Given the description of an element on the screen output the (x, y) to click on. 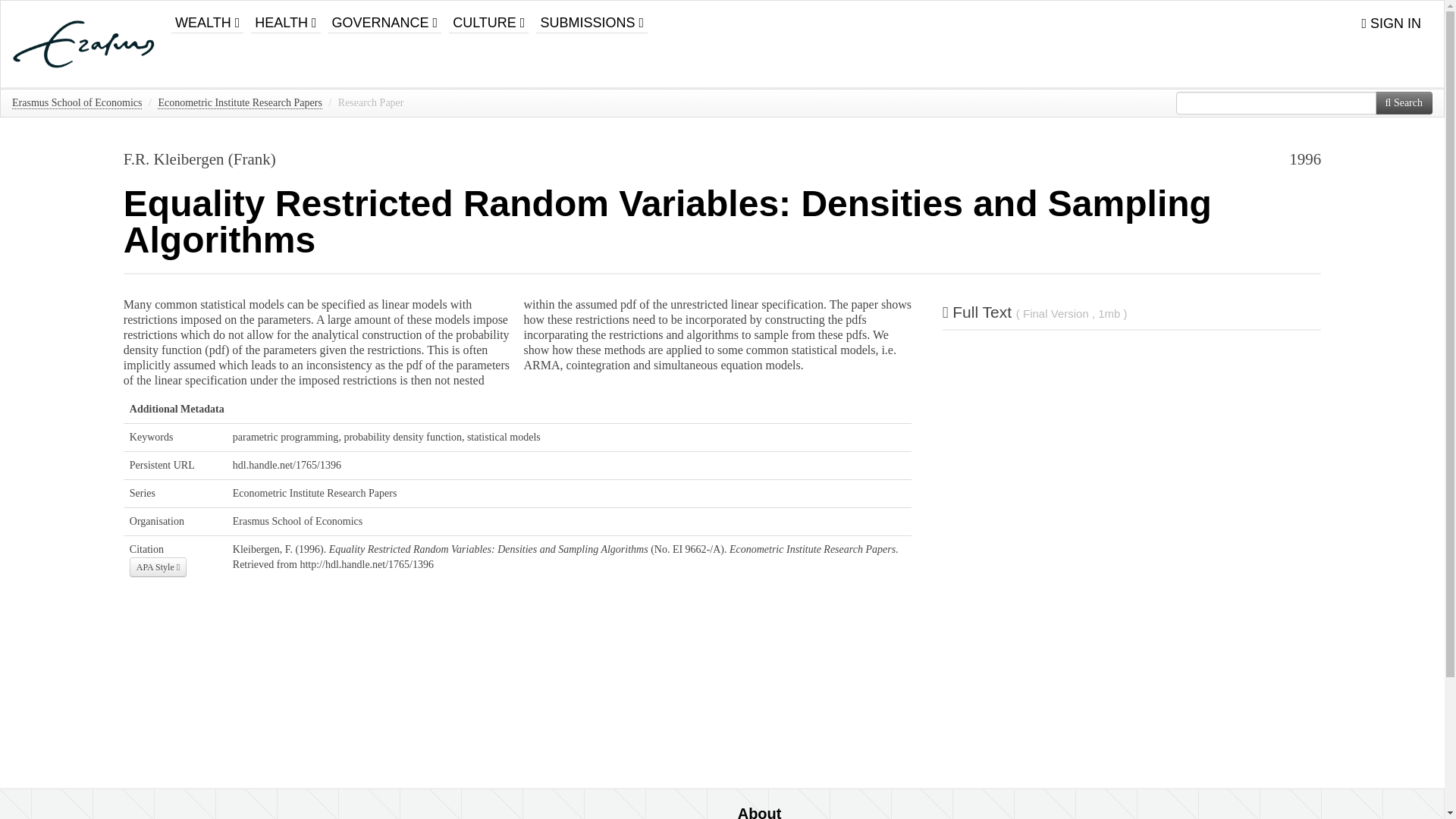
Econometric Institute Research Papers (314, 492)
HEALTH (285, 16)
Erasmus School of Economics (76, 102)
SUBMISSIONS (591, 16)
CULTURE (488, 16)
APA Style (157, 567)
Econometric Institute Research Papers (239, 102)
SIGN IN (1391, 23)
Erasmus School of Economics (297, 521)
GOVERNANCE (385, 16)
WEALTH (207, 16)
Search (1403, 102)
